Given the description of an element on the screen output the (x, y) to click on. 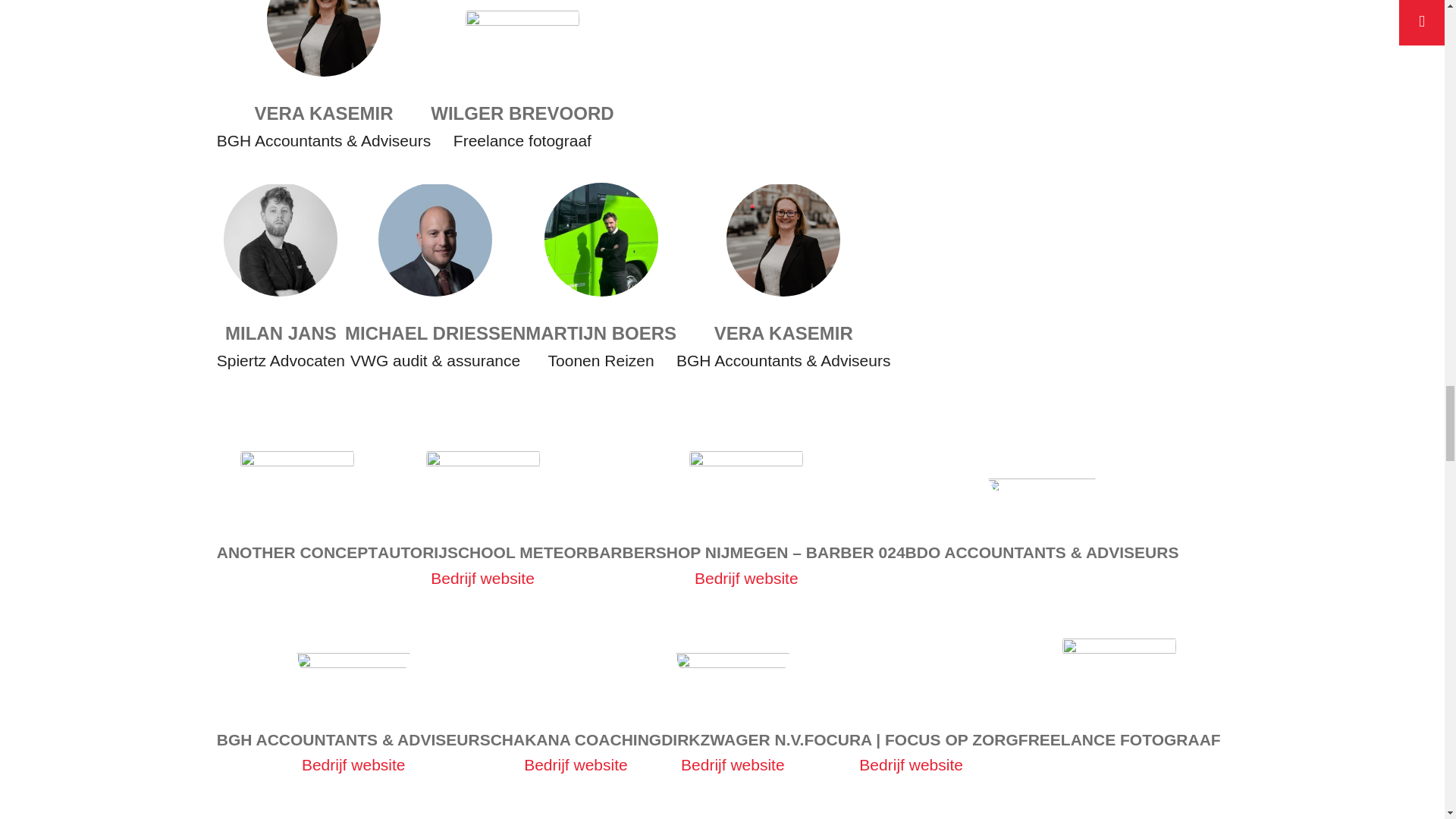
Lees meer (1043, 81)
Bedrijf website (575, 764)
Bedrijf website (910, 764)
Bedrijf website (745, 578)
Bedrijf website (482, 578)
Lees meer (1043, 291)
Bedrijf website (732, 764)
Bedrijf website (353, 764)
